Given the description of an element on the screen output the (x, y) to click on. 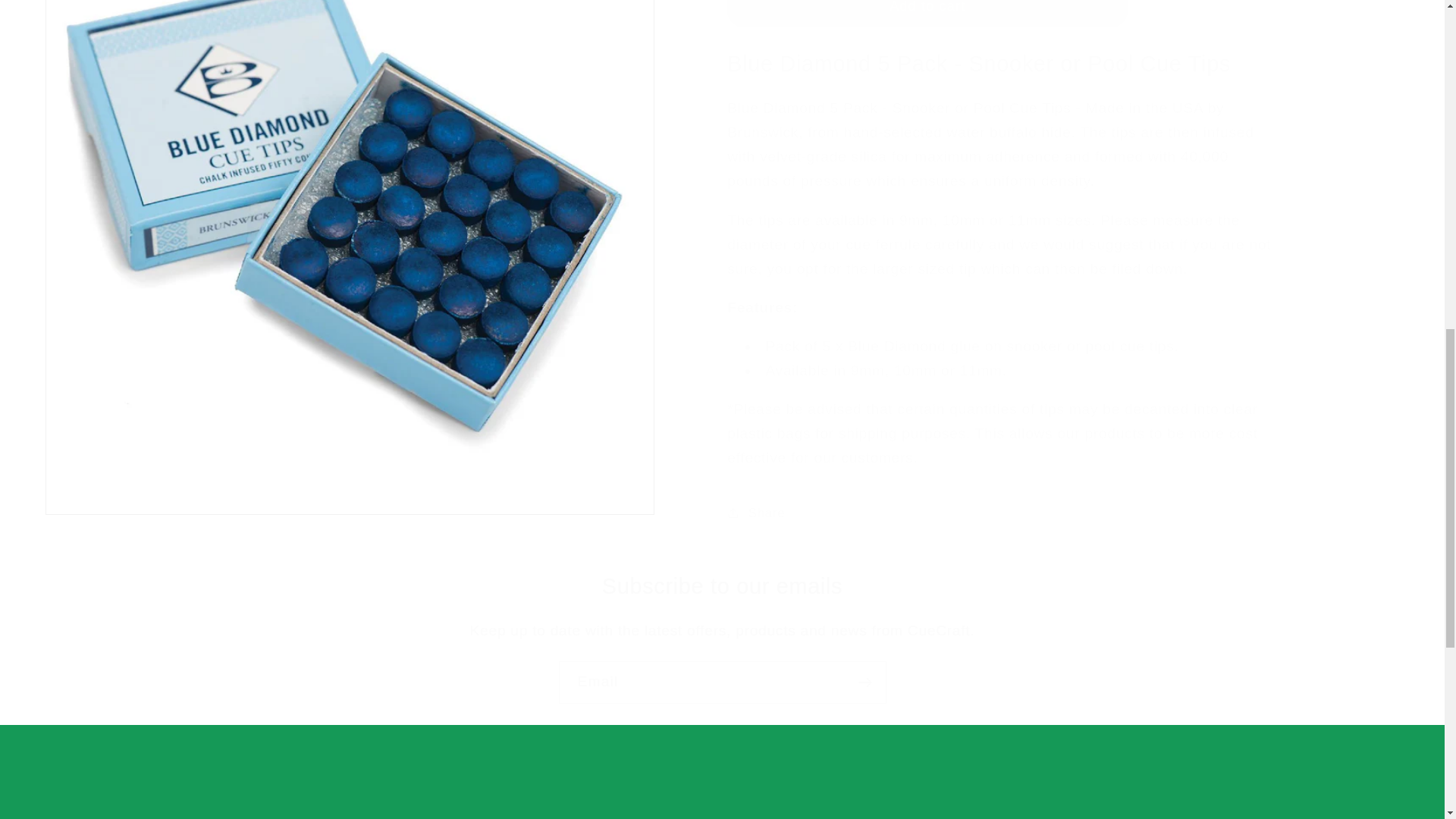
Email (721, 681)
Subscribe to our emails (721, 586)
